Given the description of an element on the screen output the (x, y) to click on. 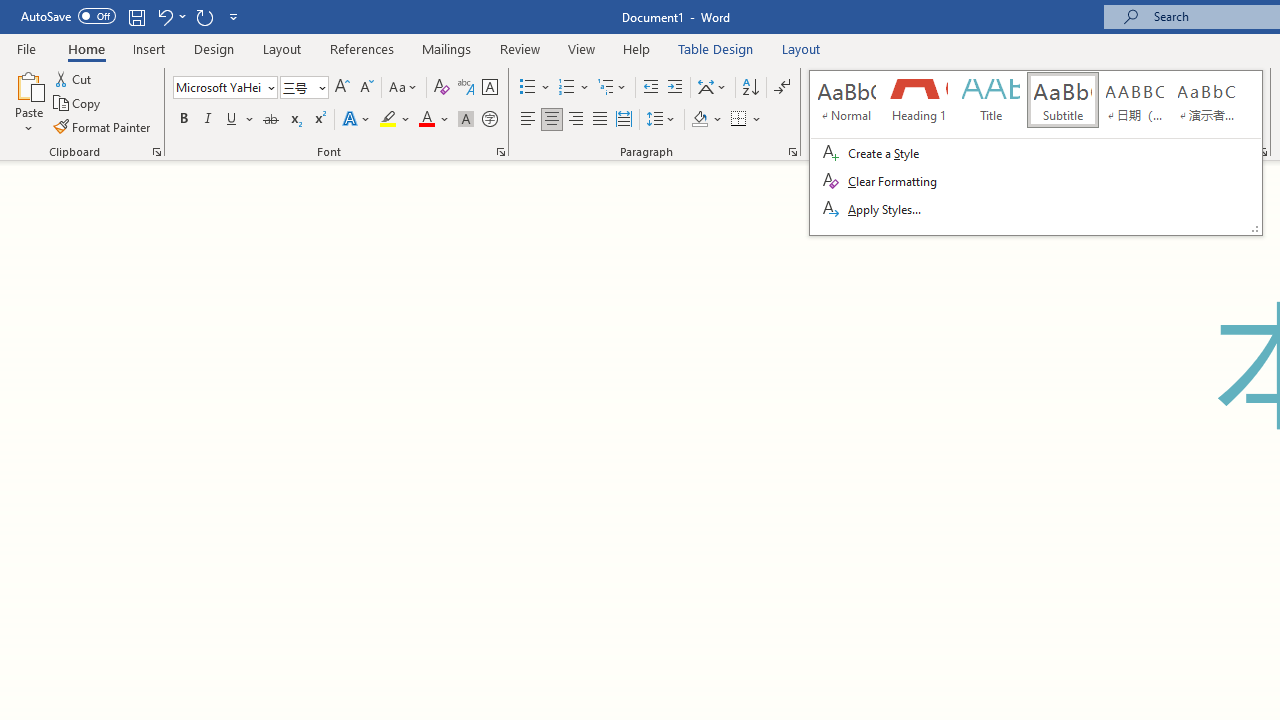
Undo Superscript (170, 15)
